Given the description of an element on the screen output the (x, y) to click on. 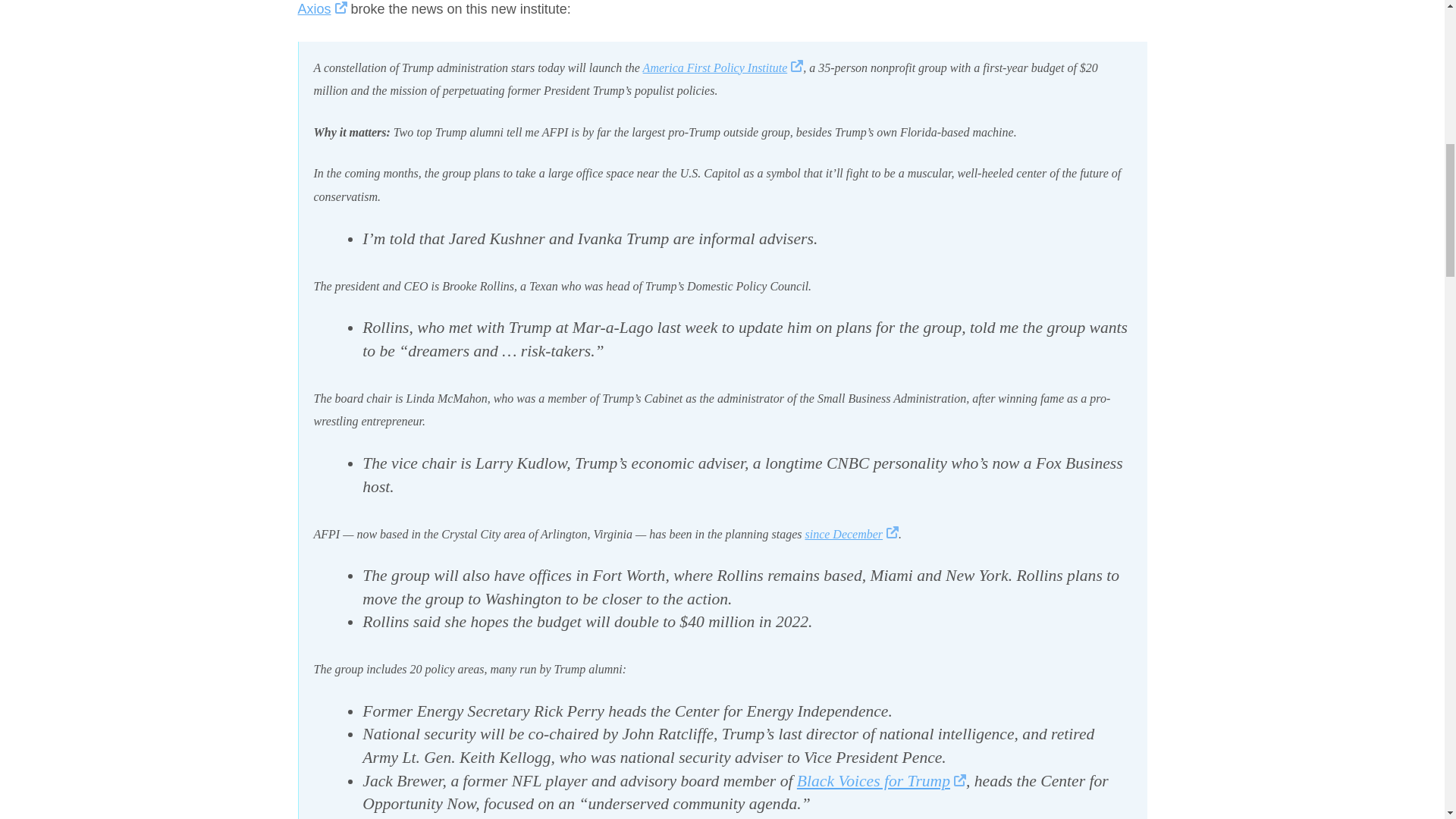
Link goes to external site. (892, 533)
Link goes to external site. (796, 67)
